Given the description of an element on the screen output the (x, y) to click on. 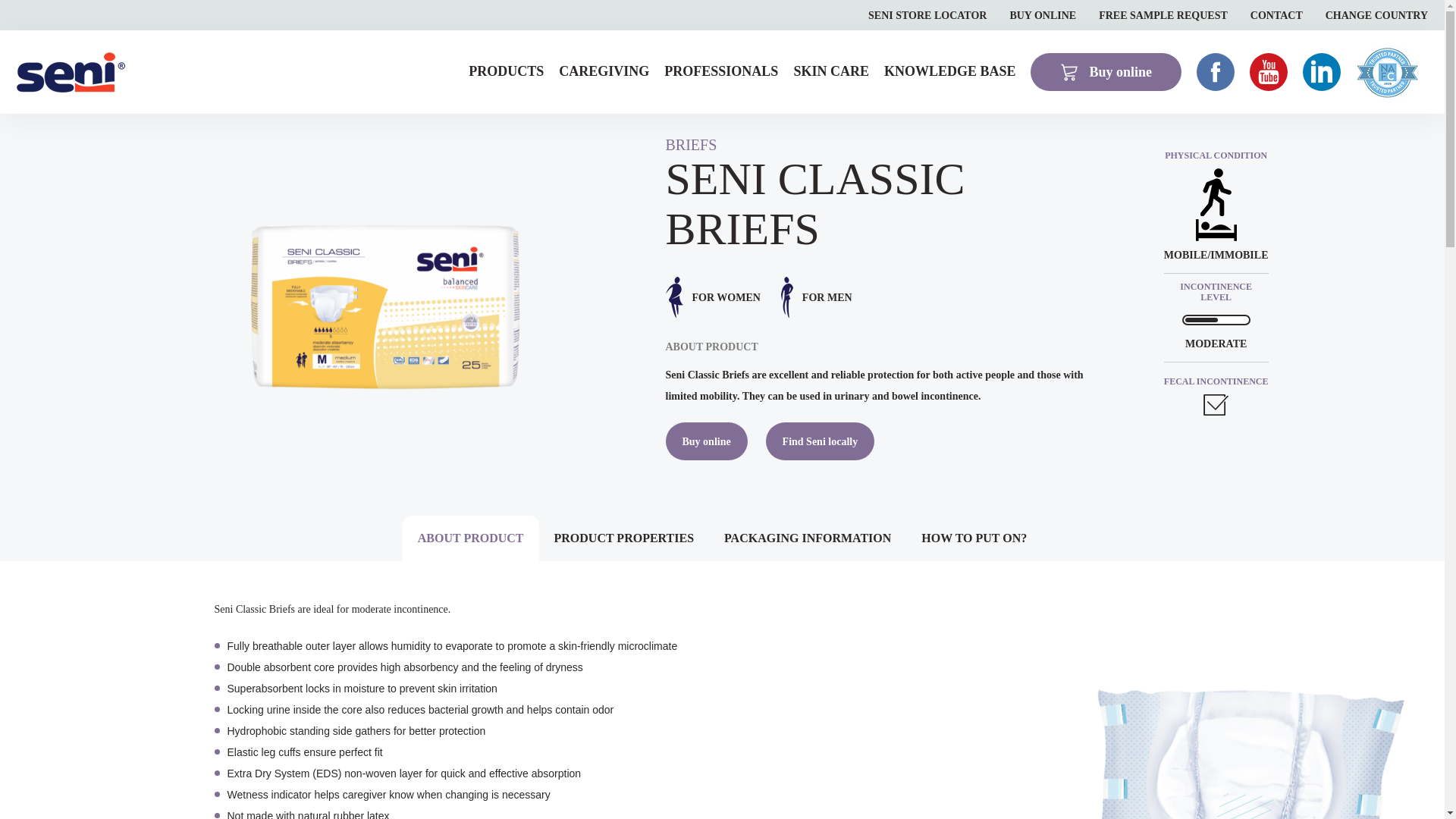
PROFESSIONALS (720, 71)
CAREGIVING (604, 71)
free sample request (1163, 15)
CONTACT (1276, 15)
ABOUT PRODUCT (470, 538)
Professionals (720, 71)
Buy online (706, 441)
facebook (1215, 71)
SKIN CARE (831, 71)
BUY ONLINE (1042, 15)
KNOWLEDGE BASE (949, 71)
Buy online (1105, 71)
Products (505, 71)
PRODUCTS (505, 71)
FREE SAMPLE REQUEST (1163, 15)
